Given the description of an element on the screen output the (x, y) to click on. 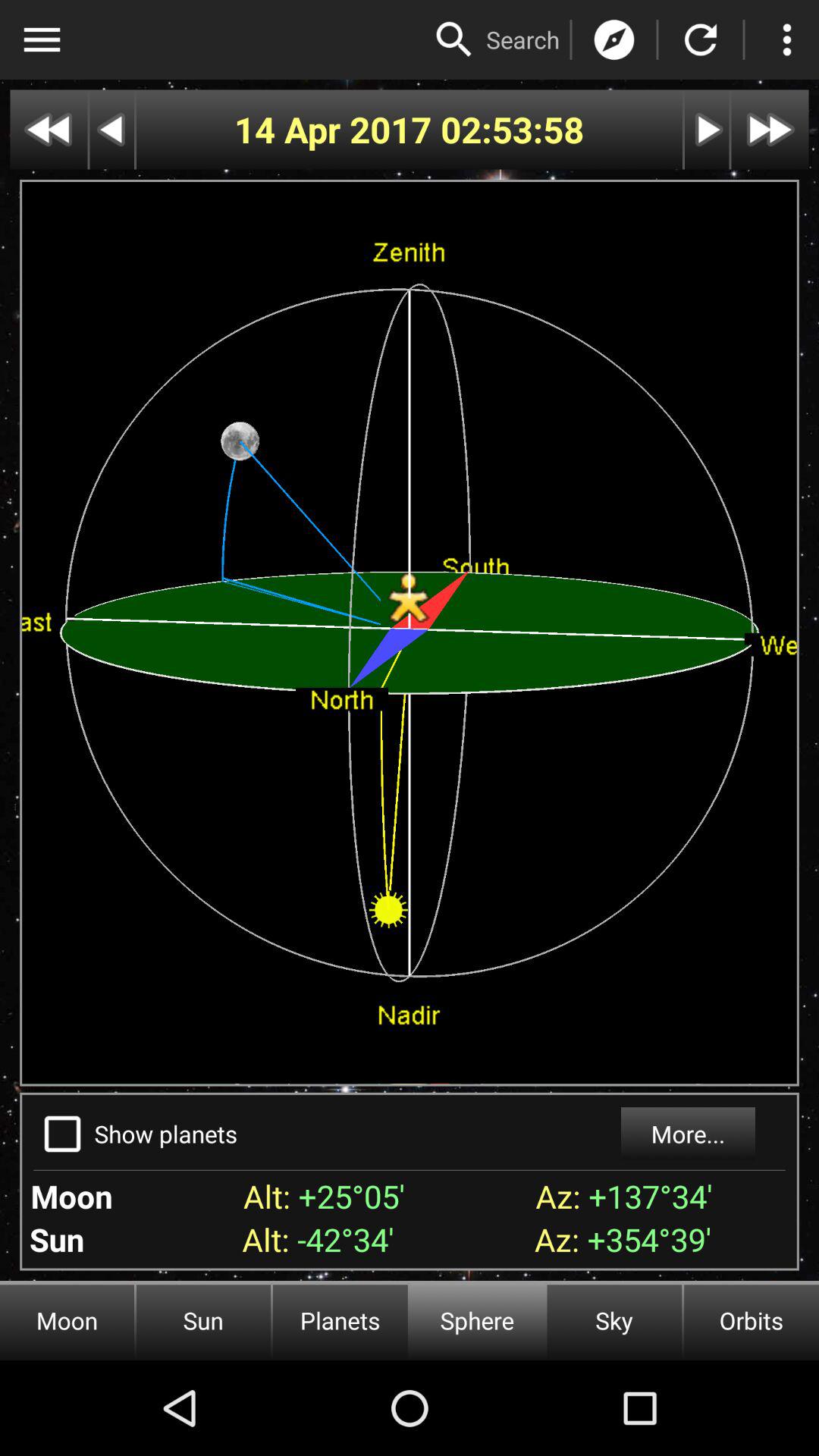
show the planet (62, 1133)
